Given the description of an element on the screen output the (x, y) to click on. 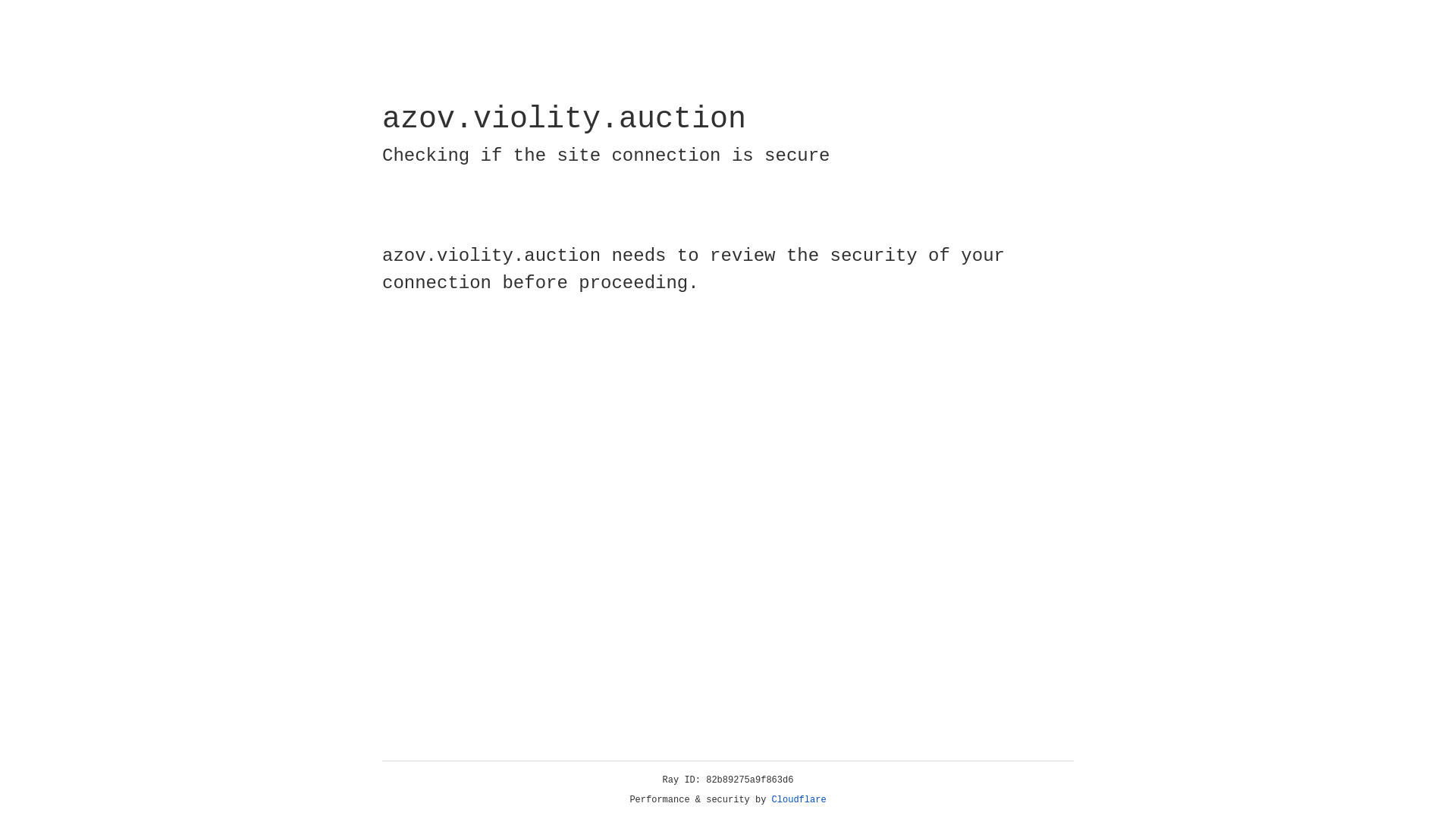
Cloudflare Element type: text (798, 799)
